Given the description of an element on the screen output the (x, y) to click on. 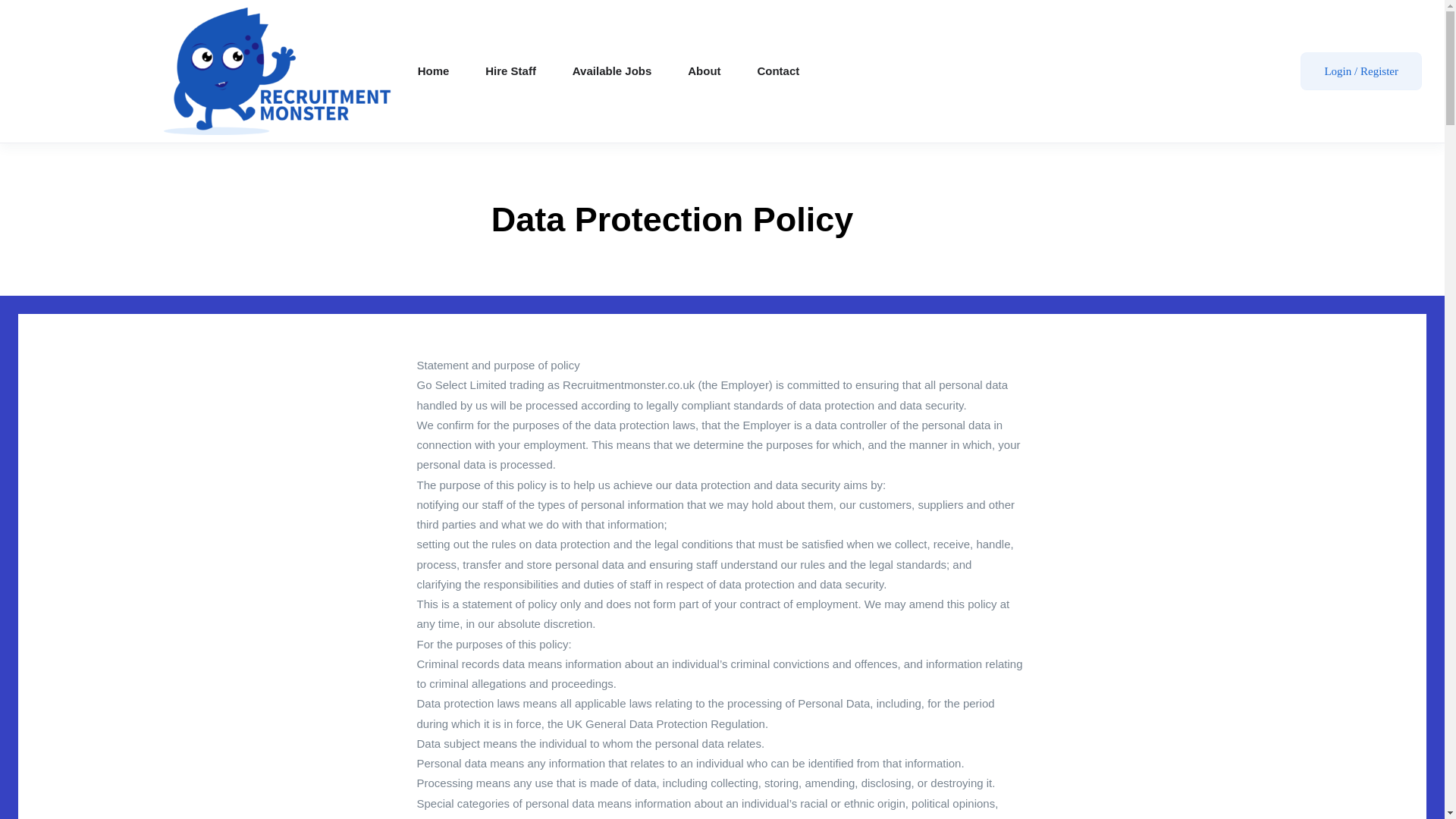
Contact (778, 71)
Hire Staff (509, 71)
Available Jobs (612, 71)
